Given the description of an element on the screen output the (x, y) to click on. 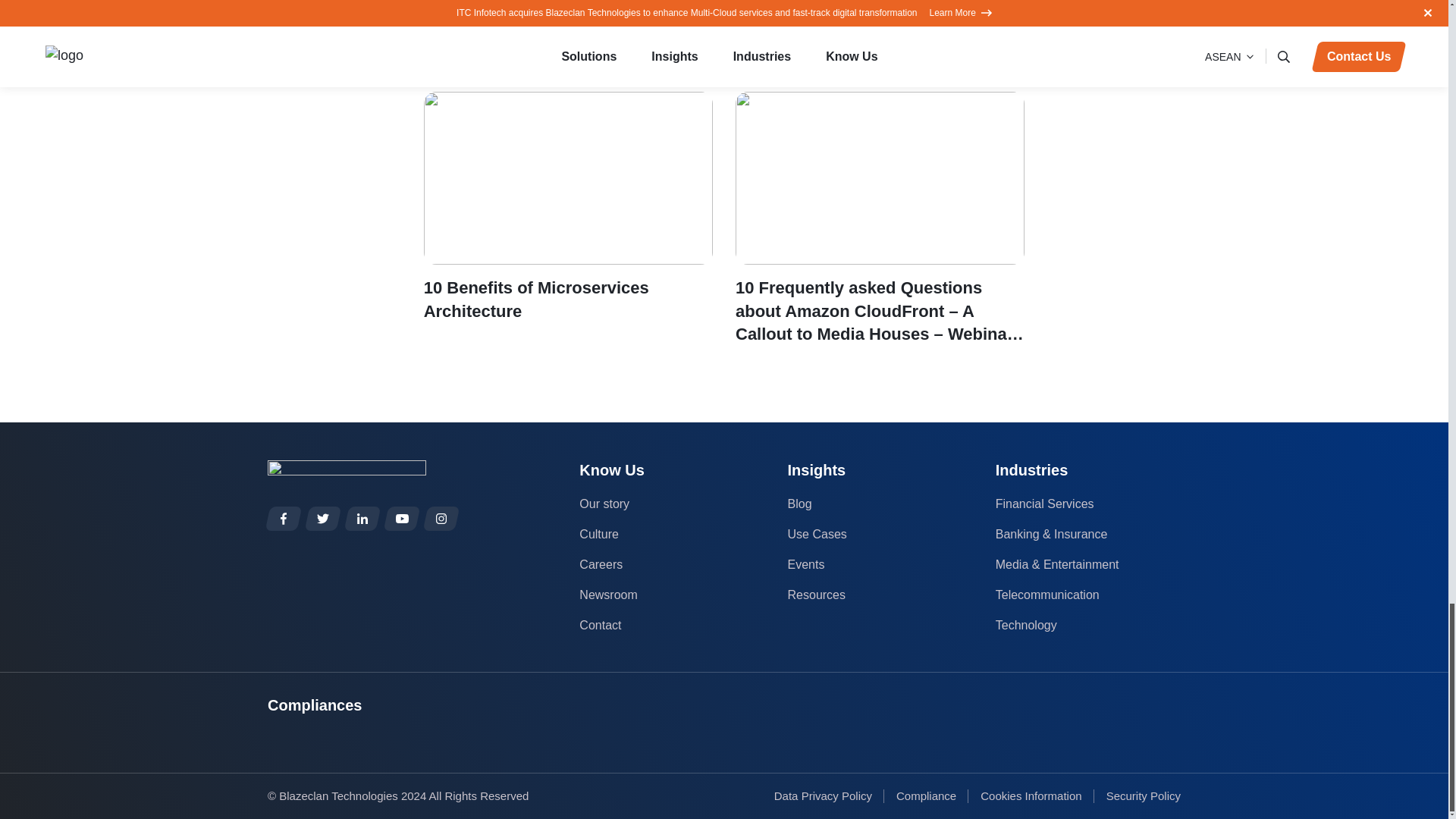
blazeclan.hq (441, 518)
UCCKF4Lcbtus-pUoZr7Lxrow (401, 518)
blazeclan-technologies (362, 518)
footer-logo (346, 469)
blazeclan.hq (283, 518)
